Given the description of an element on the screen output the (x, y) to click on. 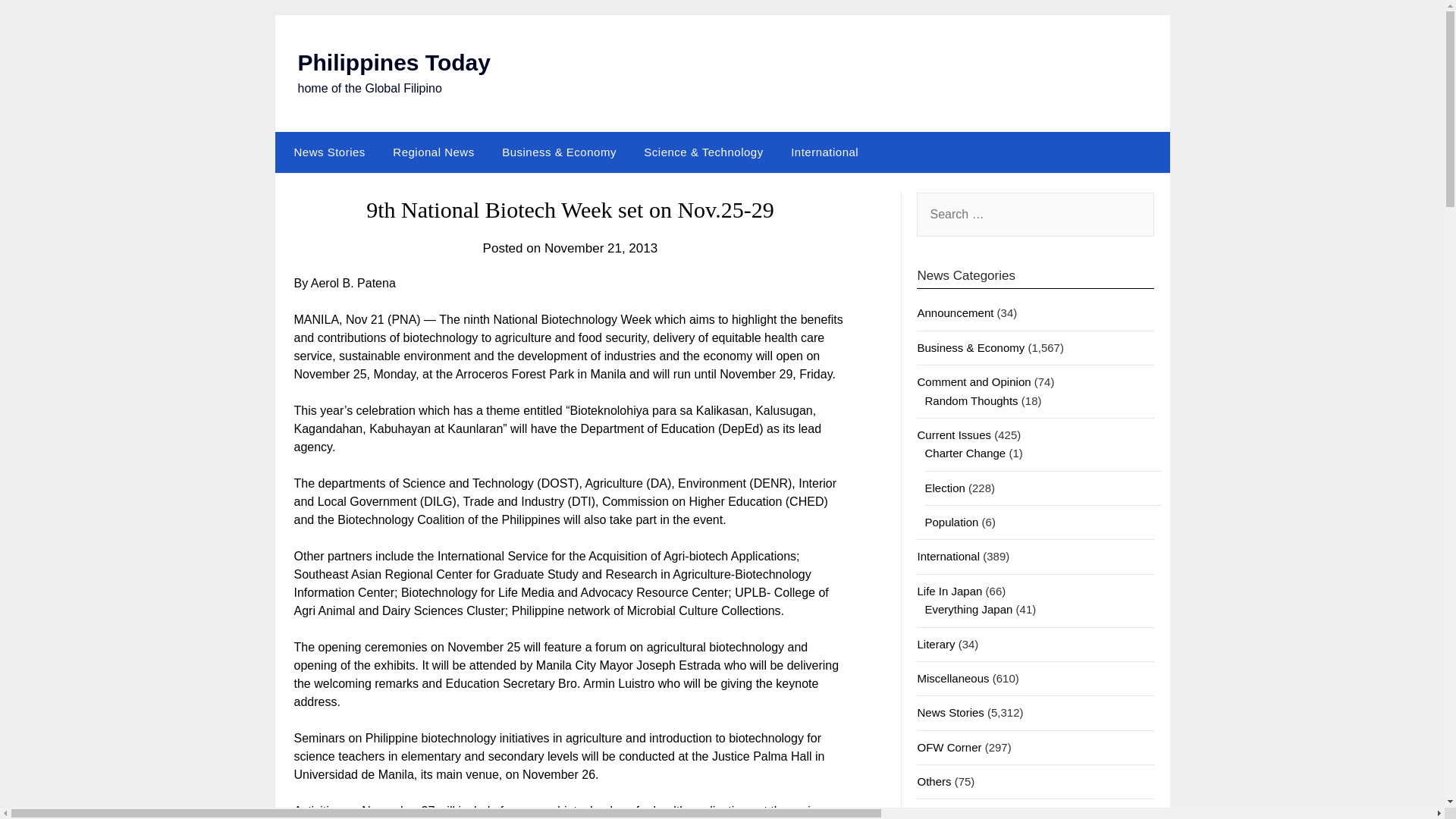
OFW Corner (949, 747)
Population (951, 521)
Literary (936, 644)
International (824, 151)
Miscellaneous (952, 677)
News Stories (326, 151)
International (948, 555)
Announcement (954, 312)
Everything Japan (967, 608)
Search (38, 22)
